Given the description of an element on the screen output the (x, y) to click on. 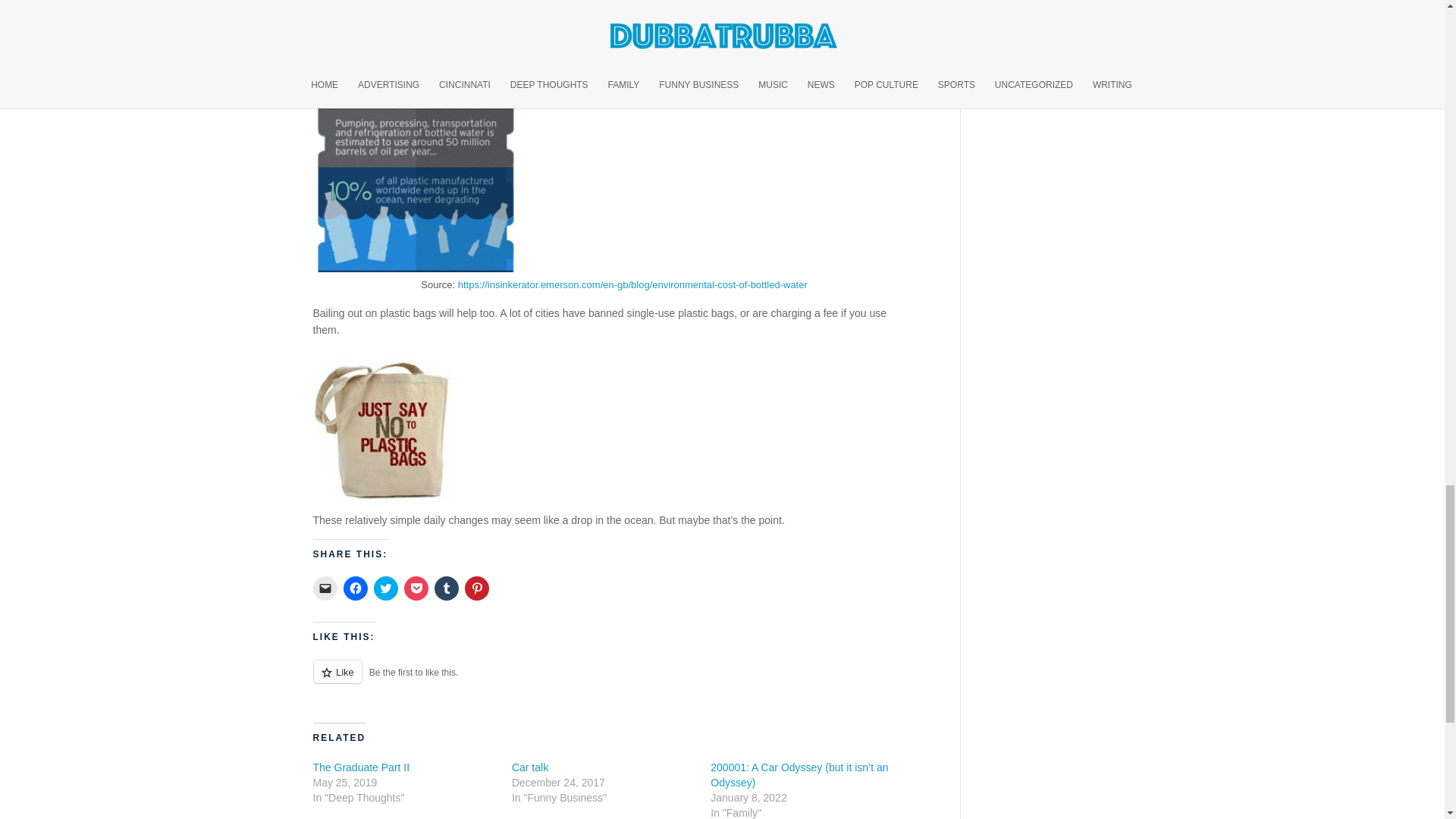
Click to share on Facebook (354, 588)
The Graduate Part II (361, 767)
Like or Reblog (614, 680)
Car talk (530, 767)
Click to share on Twitter (384, 588)
Click to share on Pinterest (475, 588)
Click to share on Pocket (415, 588)
Click to email a link to a friend (324, 588)
Click to share on Tumblr (445, 588)
